Given the description of an element on the screen output the (x, y) to click on. 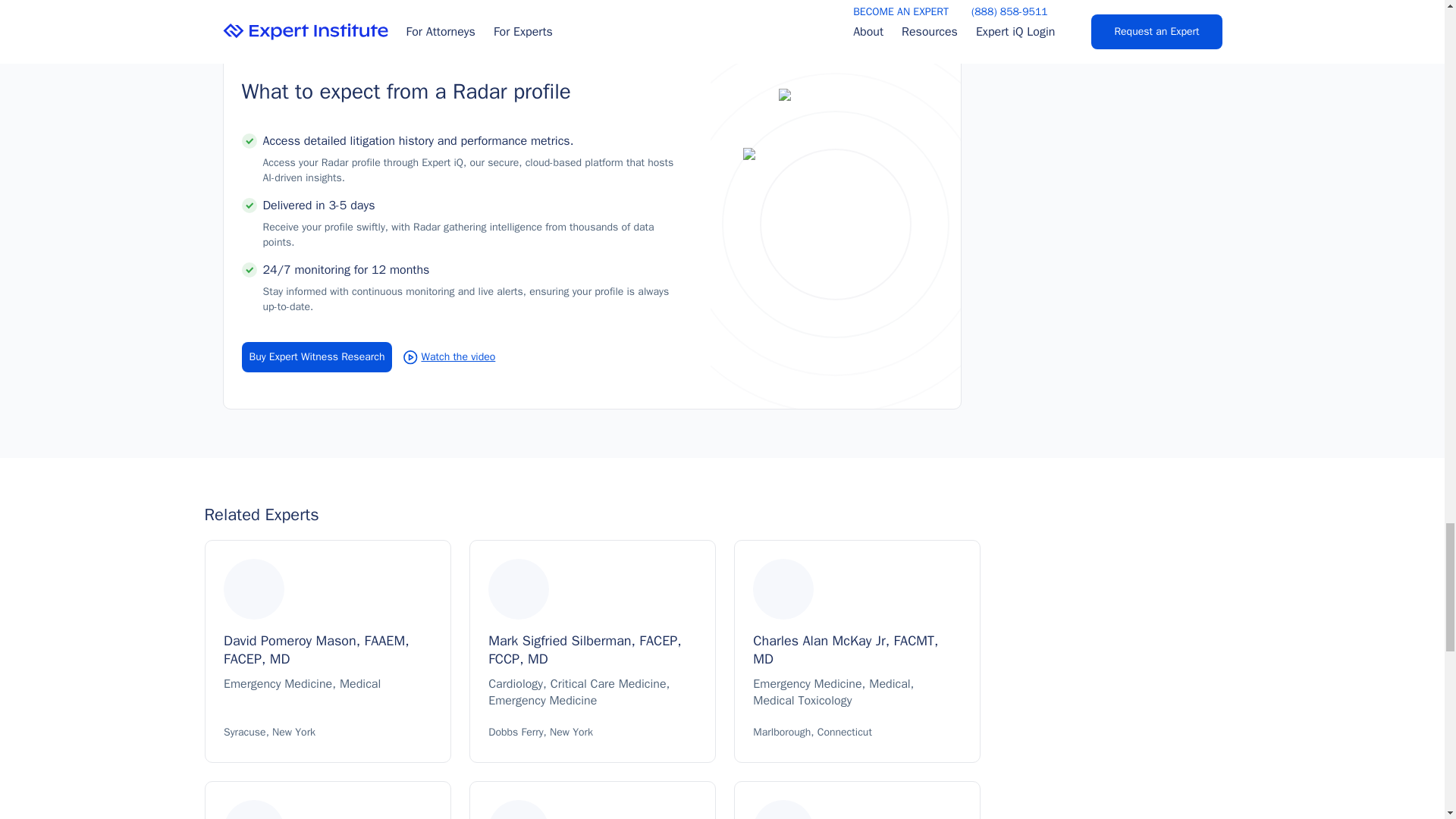
David Pomeroy Mason, FAAEM, FACEP, MD (328, 653)
Watch the video (449, 356)
Buy Expert Witness Research (316, 357)
